Given the description of an element on the screen output the (x, y) to click on. 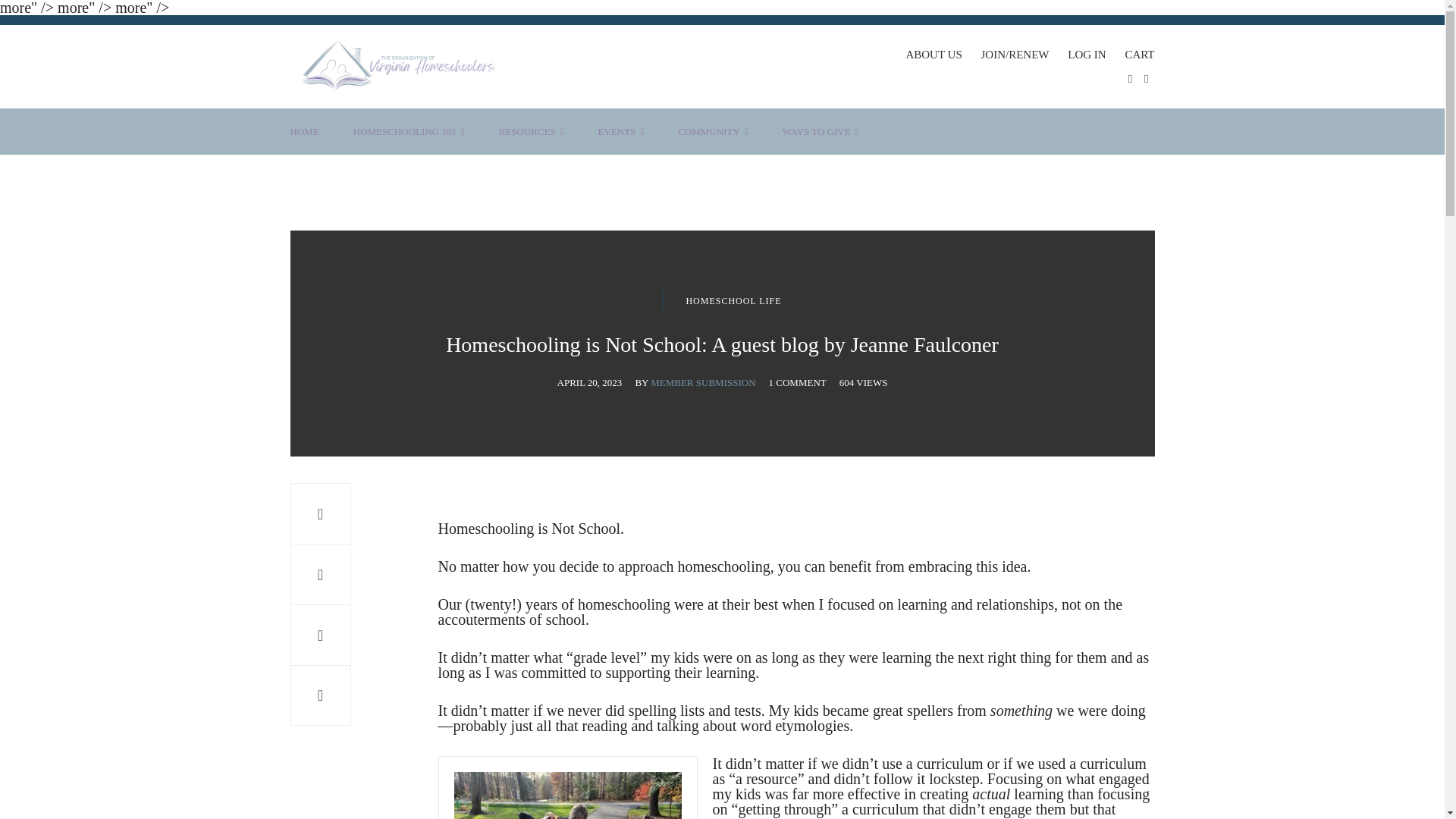
View (864, 382)
Author (694, 382)
Comment (797, 382)
Date (590, 382)
